Given the description of an element on the screen output the (x, y) to click on. 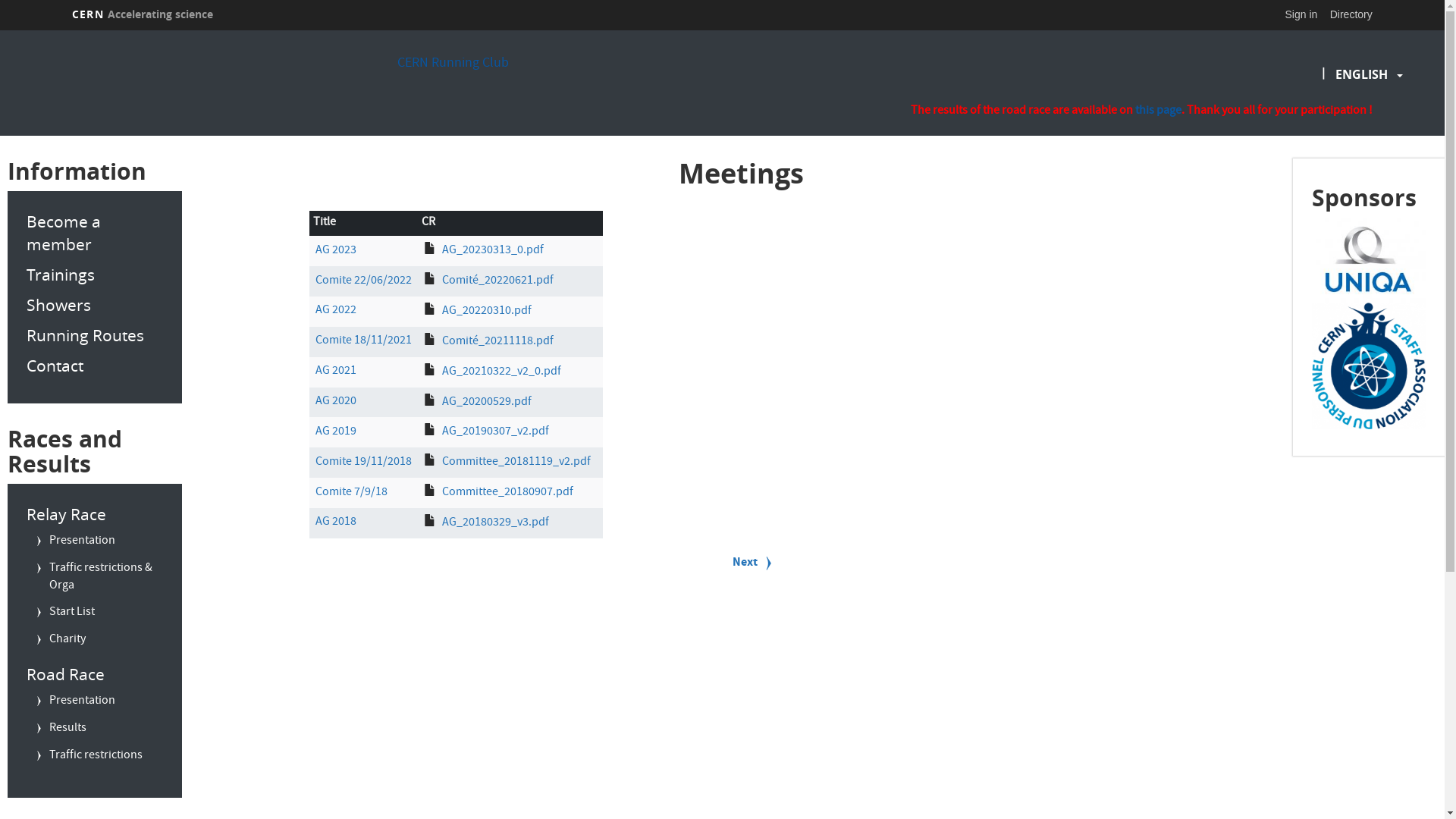
Comite 22/06/2022 Element type: text (363, 281)
|
ENGLISH Element type: text (1361, 73)
Sign in Element type: text (1301, 14)
AG_20230313_0.pdf Element type: text (491, 250)
AG_20180329_v3.pdf Element type: text (494, 523)
AG 2021 Element type: text (335, 371)
CERN Running Club Element type: text (452, 64)
Traffic restrictions Element type: text (88, 757)
CERN Accelerating science Element type: text (142, 14)
Comite 7/9/18 Element type: text (351, 492)
Comite 18/11/2021 Element type: text (363, 341)
Committee_20181119_v2.pdf Element type: text (515, 462)
Charity Element type: text (59, 641)
AG 2019 Element type: text (335, 432)
Trainings Element type: text (94, 274)
AG_20220310.pdf Element type: text (485, 311)
AG 2023 Element type: text (335, 250)
Comite 19/11/2018 Element type: text (363, 462)
Road Race Element type: text (94, 673)
Become a member Element type: text (94, 232)
AG 2022 Element type: text (335, 310)
Running Routes Element type: text (94, 334)
Committee_20180907.pdf Element type: text (506, 492)
AG_20190307_v2.pdf Element type: text (494, 432)
Presentation Element type: text (74, 702)
AG_20210322_v2_0.pdf Element type: text (500, 372)
Results Element type: text (60, 729)
AG_20200529.pdf Element type: text (485, 401)
Presentation Element type: text (74, 542)
AG 2020 Element type: text (335, 401)
AG 2018 Element type: text (335, 522)
Showers Element type: text (94, 304)
Contact Element type: text (94, 365)
Relay Race Element type: text (94, 513)
Start List Element type: text (64, 613)
this page Element type: text (1158, 111)
Skip to main content Element type: text (0, 30)
Traffic restrictions & Orga Element type: text (98, 578)
Next page
Next Element type: text (744, 563)
Directory Element type: text (1351, 14)
